Given the description of an element on the screen output the (x, y) to click on. 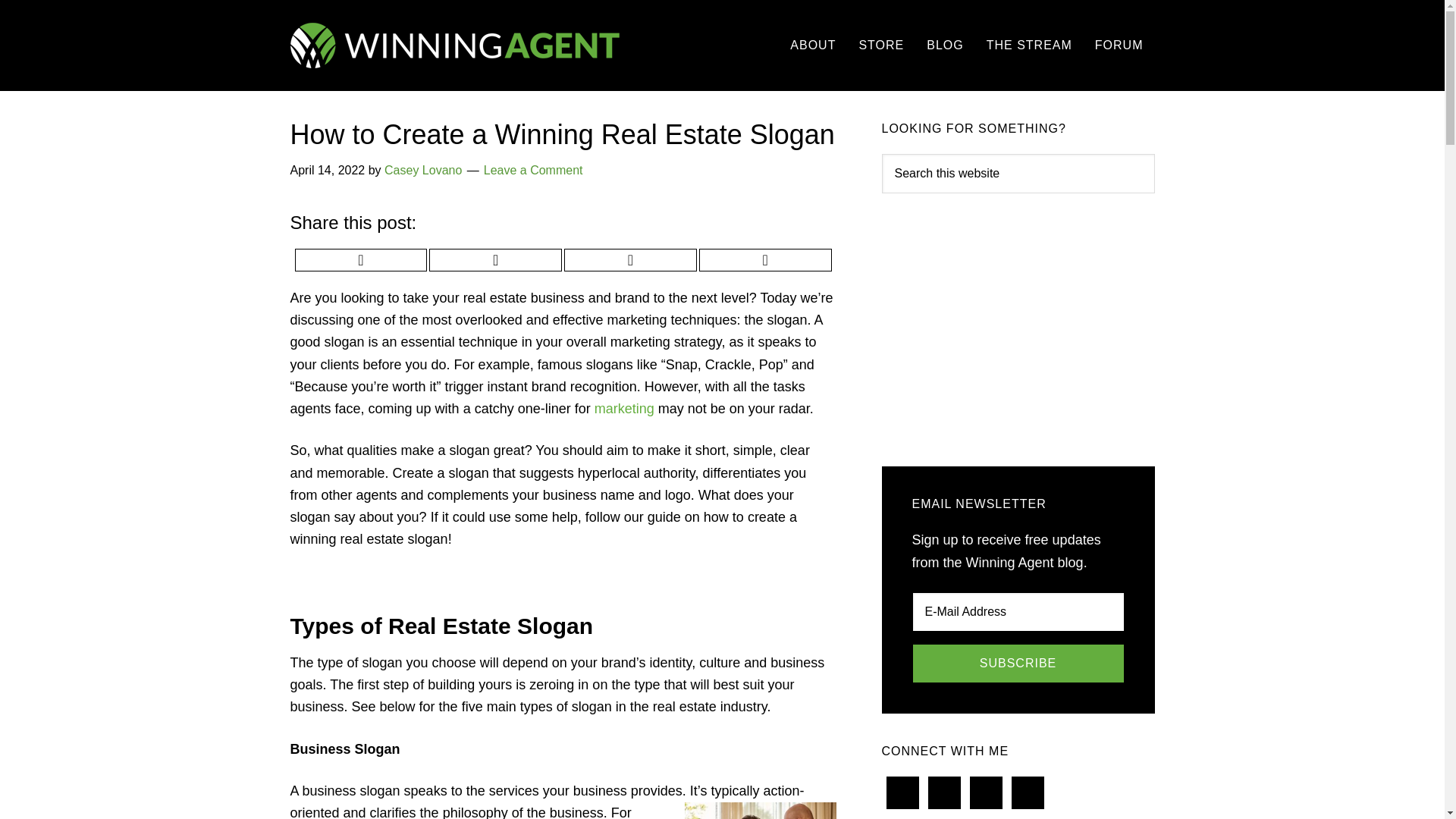
Casey Lovano (422, 169)
ABOUT (812, 45)
Share on Facebook (495, 259)
FORUM (1118, 45)
Search (45, 18)
STORE (881, 45)
BLOG (944, 45)
Winning Agent (458, 45)
Share on LinkedIn (764, 259)
marketing (623, 408)
